Given the description of an element on the screen output the (x, y) to click on. 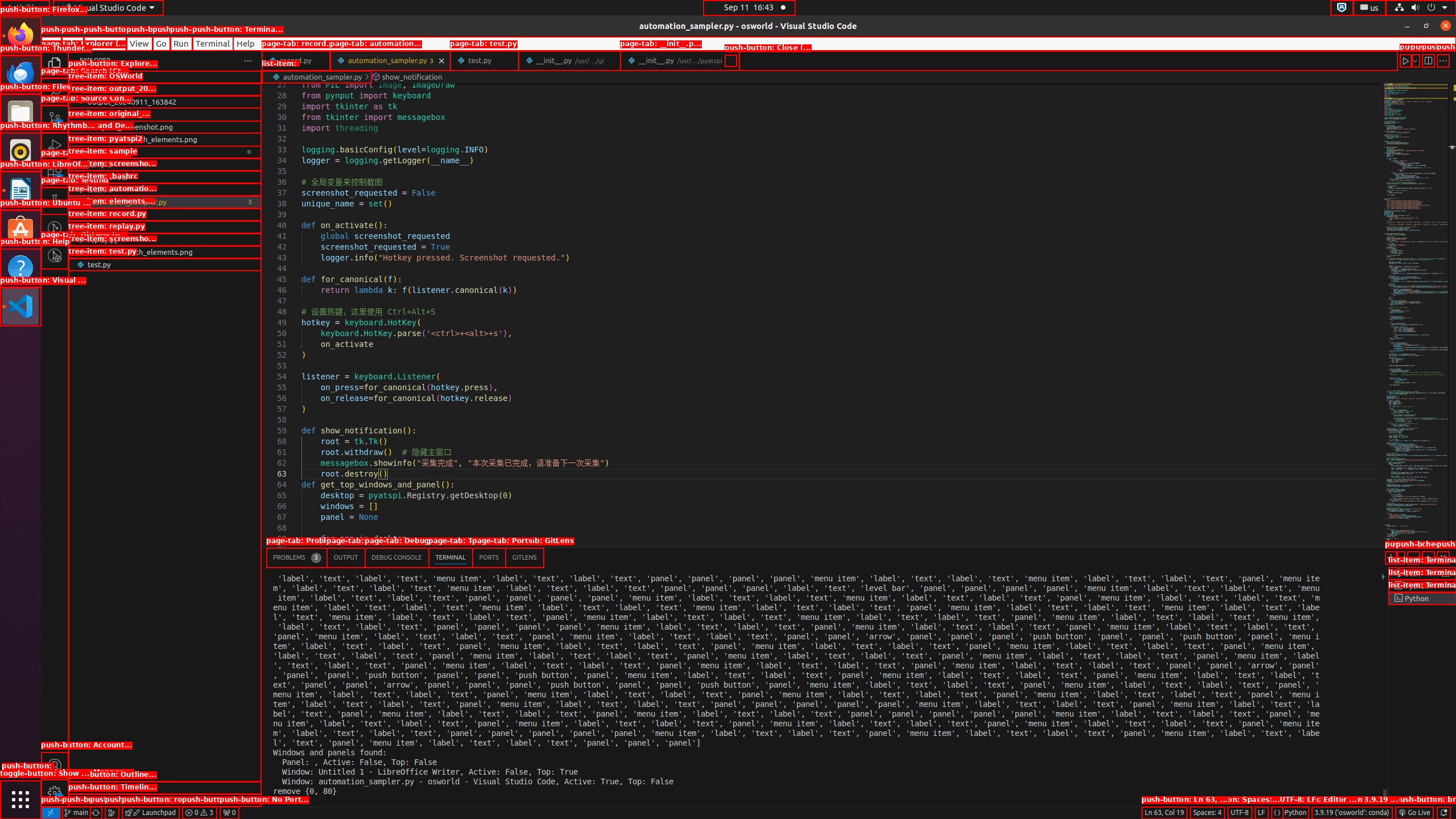
Spaces: 4 Element type: push-button (1206, 812)
